Given the description of an element on the screen output the (x, y) to click on. 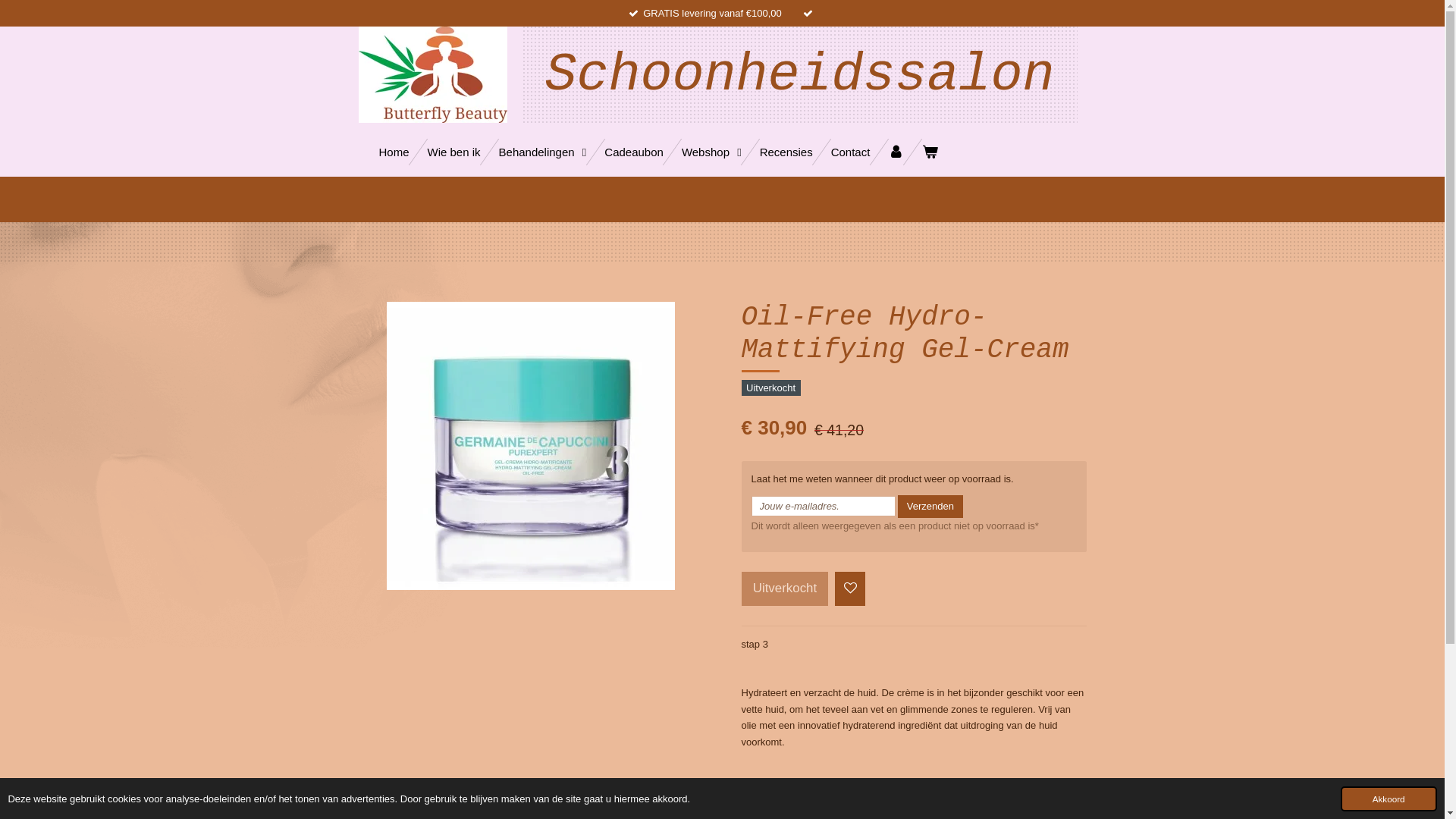
Butterfly Beauty Element type: hover (431, 74)
Home Element type: text (394, 151)
Behandelingen Element type: text (542, 151)
Toevoegen aan verlanglijst Element type: hover (850, 588)
Contact Element type: text (850, 151)
Verzenden Element type: text (930, 506)
Bekijk winkelwagen Element type: hover (930, 151)
Uitverkocht Element type: text (784, 588)
Schoonheidssalon Element type: text (799, 82)
Wie ben ik Element type: text (453, 151)
Webshop Element type: text (711, 151)
Recensies Element type: text (786, 151)
Cadeaubon Element type: text (633, 151)
Toevoegen aan verlanglijst Element type: hover (849, 587)
Akkoord Element type: text (1388, 798)
Account Element type: hover (895, 151)
